Given the description of an element on the screen output the (x, y) to click on. 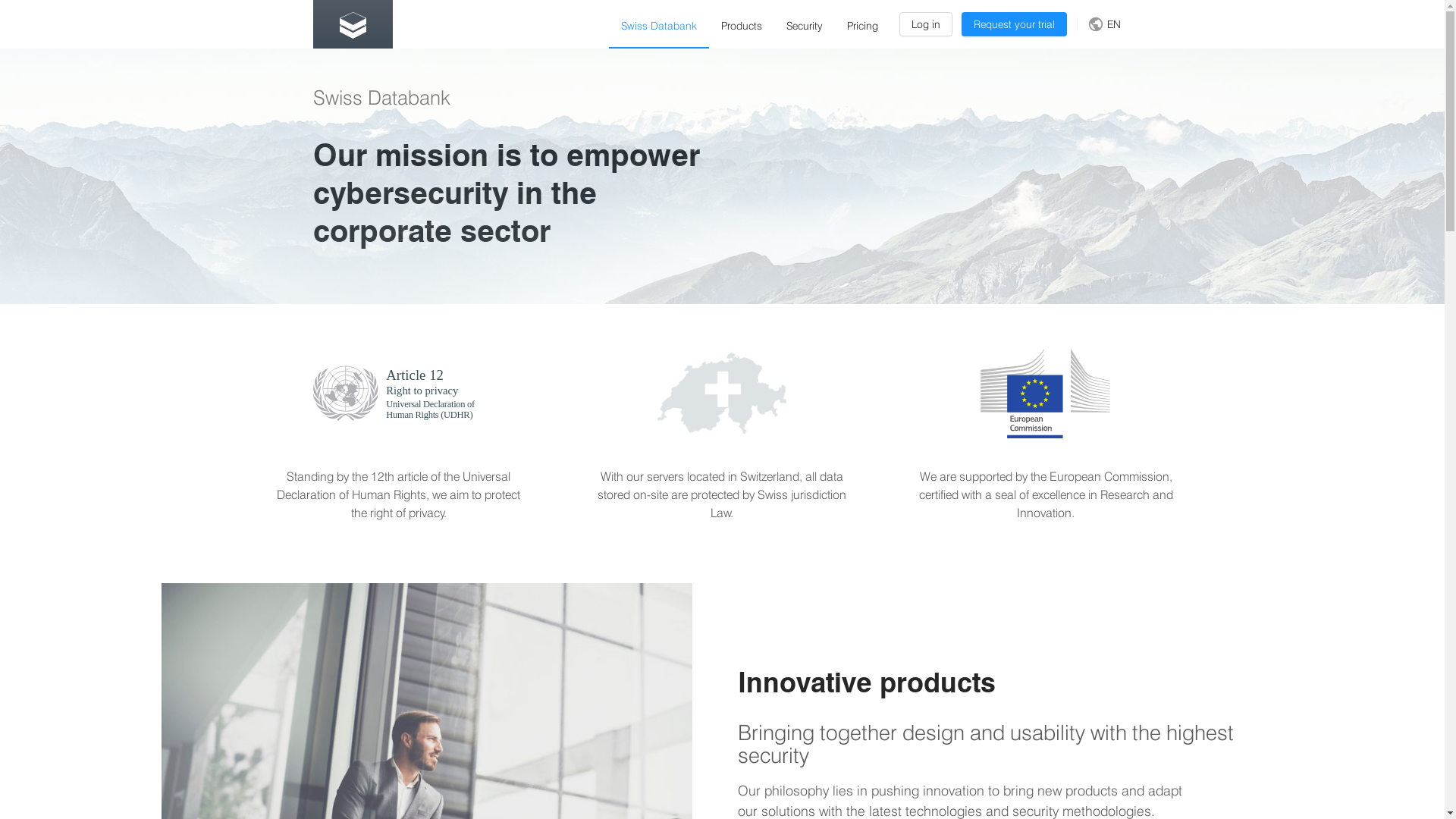
Log in Element type: text (925, 24)
Request your trial Element type: text (1013, 24)
